Given the description of an element on the screen output the (x, y) to click on. 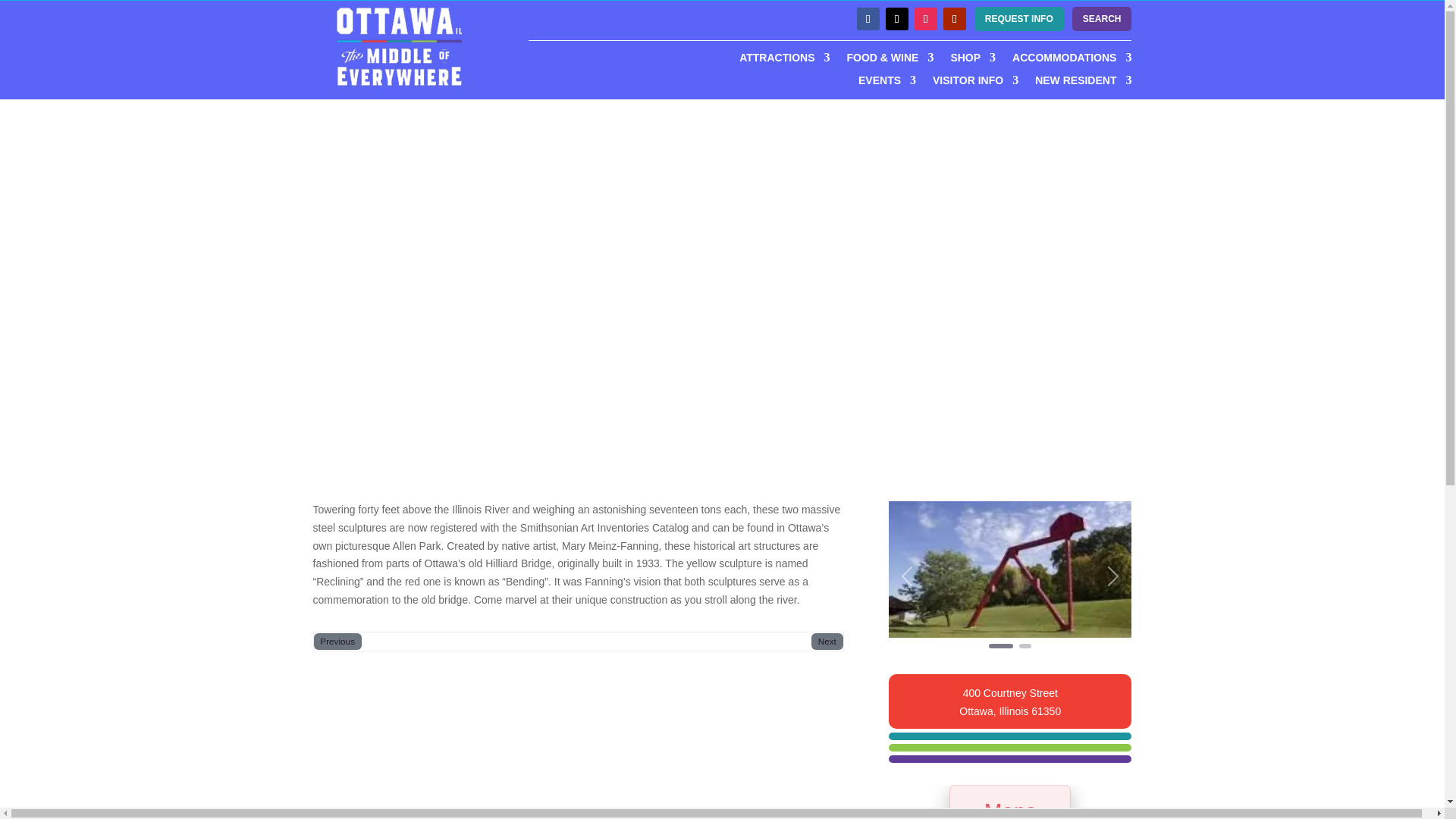
Follow on Youtube (954, 18)
REQUEST INFO (1019, 18)
ATTRACTIONS (784, 60)
Follow on X (896, 18)
Follow on Facebook (868, 18)
Follow on Instagram (925, 18)
EVENTS (887, 83)
SHOP (972, 60)
SEARCH (1101, 18)
logo-white (397, 45)
